Given the description of an element on the screen output the (x, y) to click on. 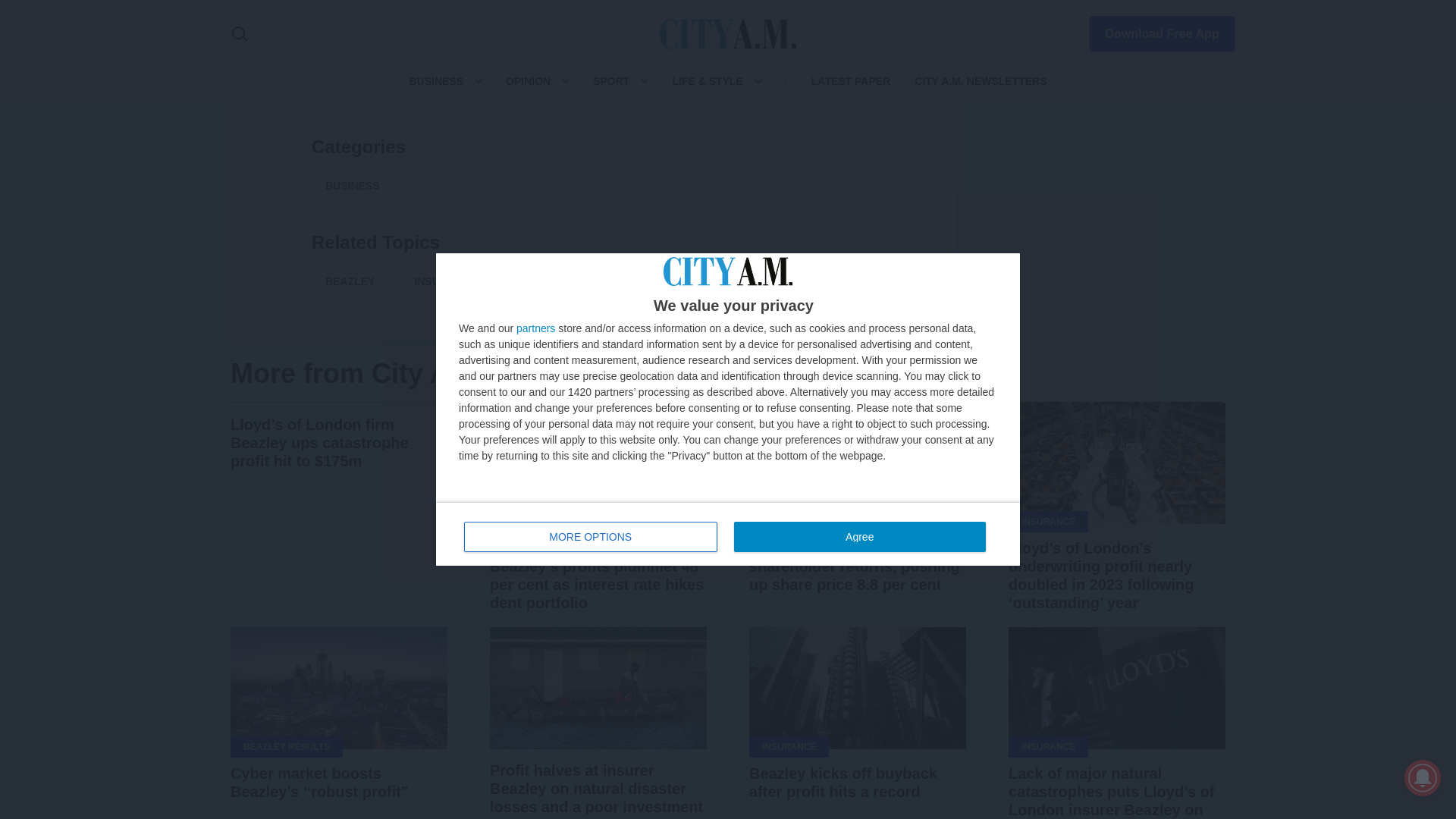
WhatsApp (629, 7)
LinkedIn (592, 7)
Facebook (520, 7)
Email (665, 7)
X (556, 7)
